Given the description of an element on the screen output the (x, y) to click on. 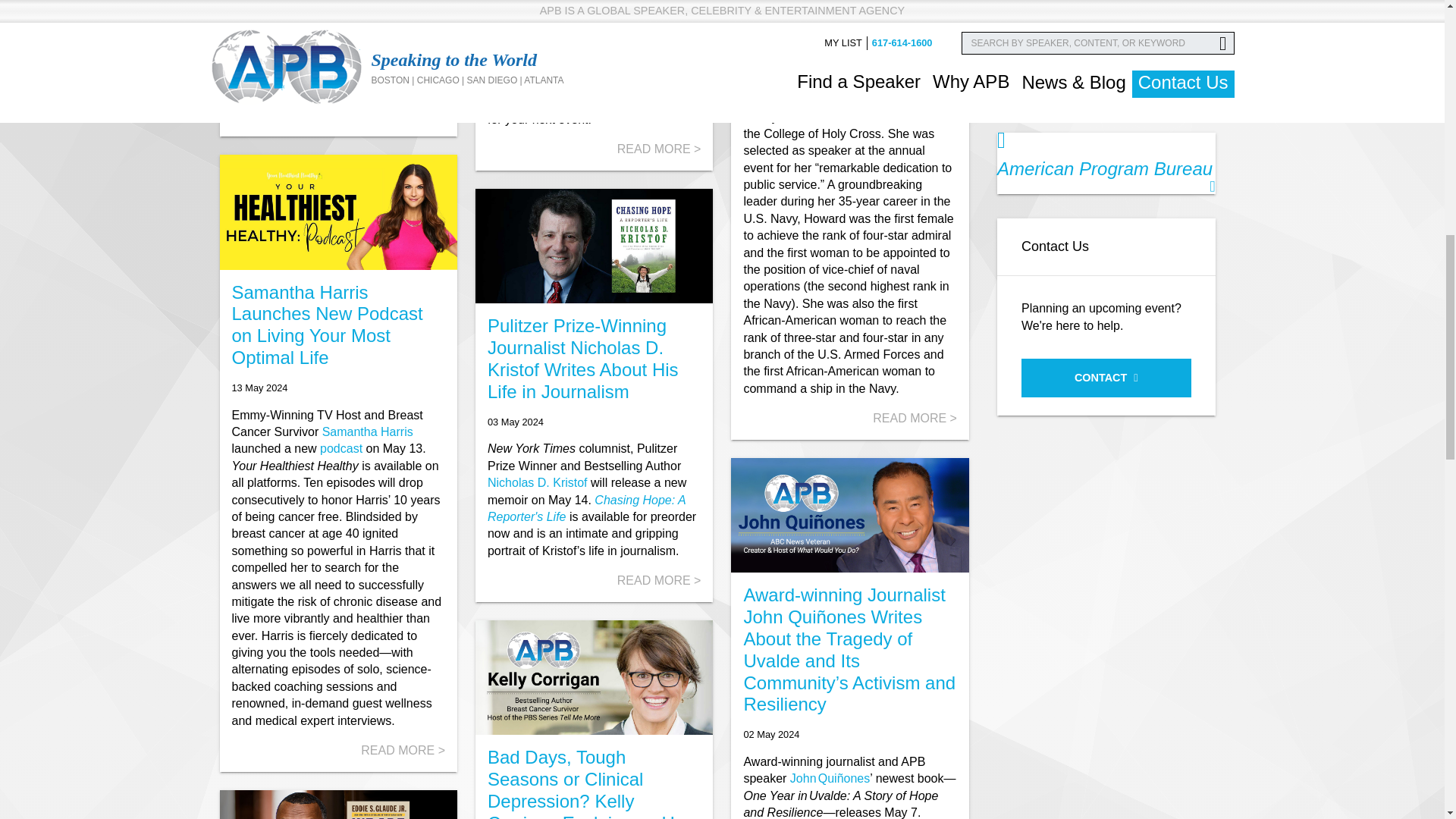
Check Out the Podcast (342, 448)
Nicholas Kristof (537, 481)
Nicholas D. Kristof (537, 481)
podcast (342, 448)
Chasing Hope: A Reporter's Life (586, 508)
Michelle J. Howard (838, 82)
Samantha Harris (367, 431)
